Given the description of an element on the screen output the (x, y) to click on. 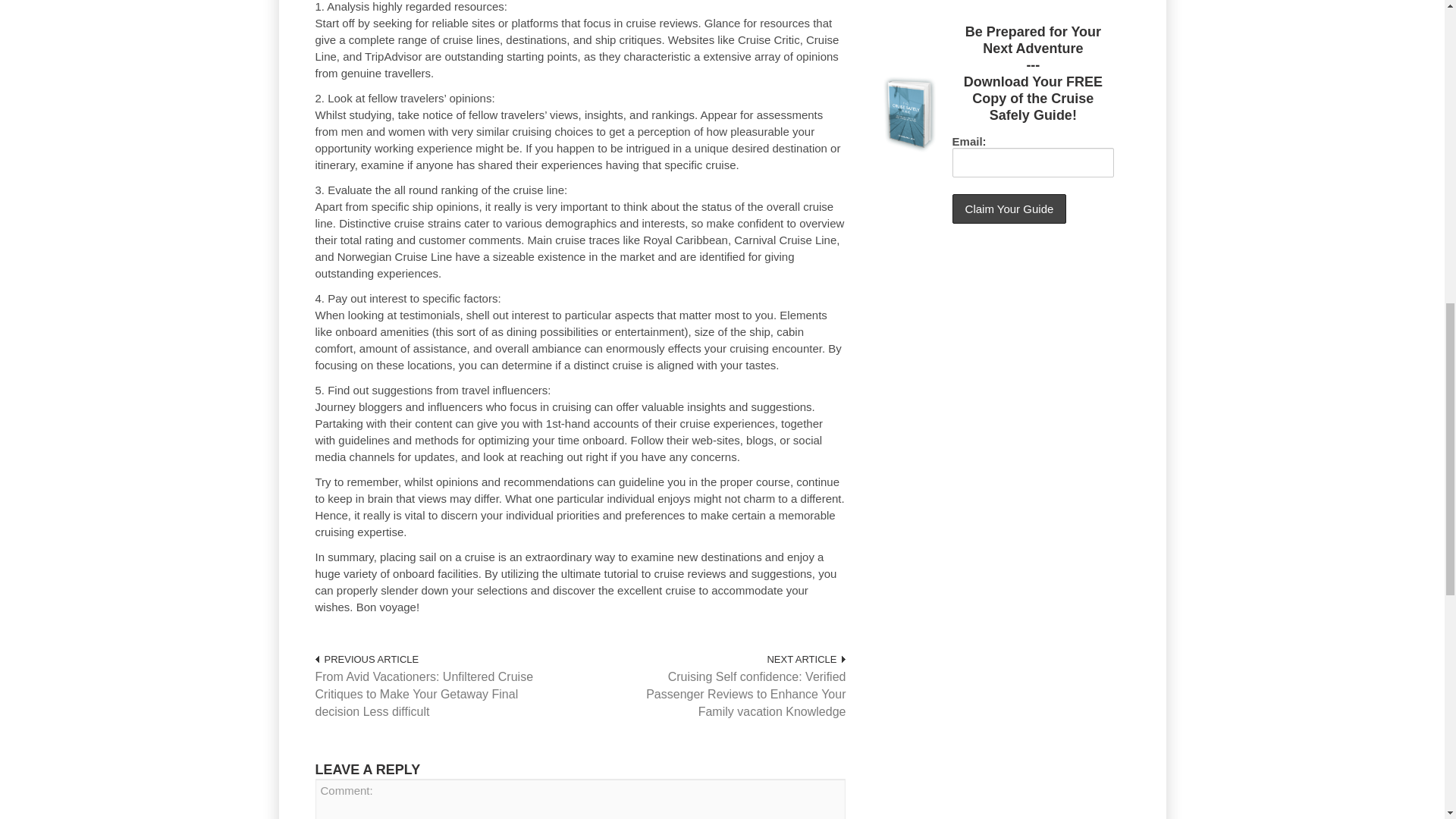
Claim Your Guide (1009, 208)
